Given the description of an element on the screen output the (x, y) to click on. 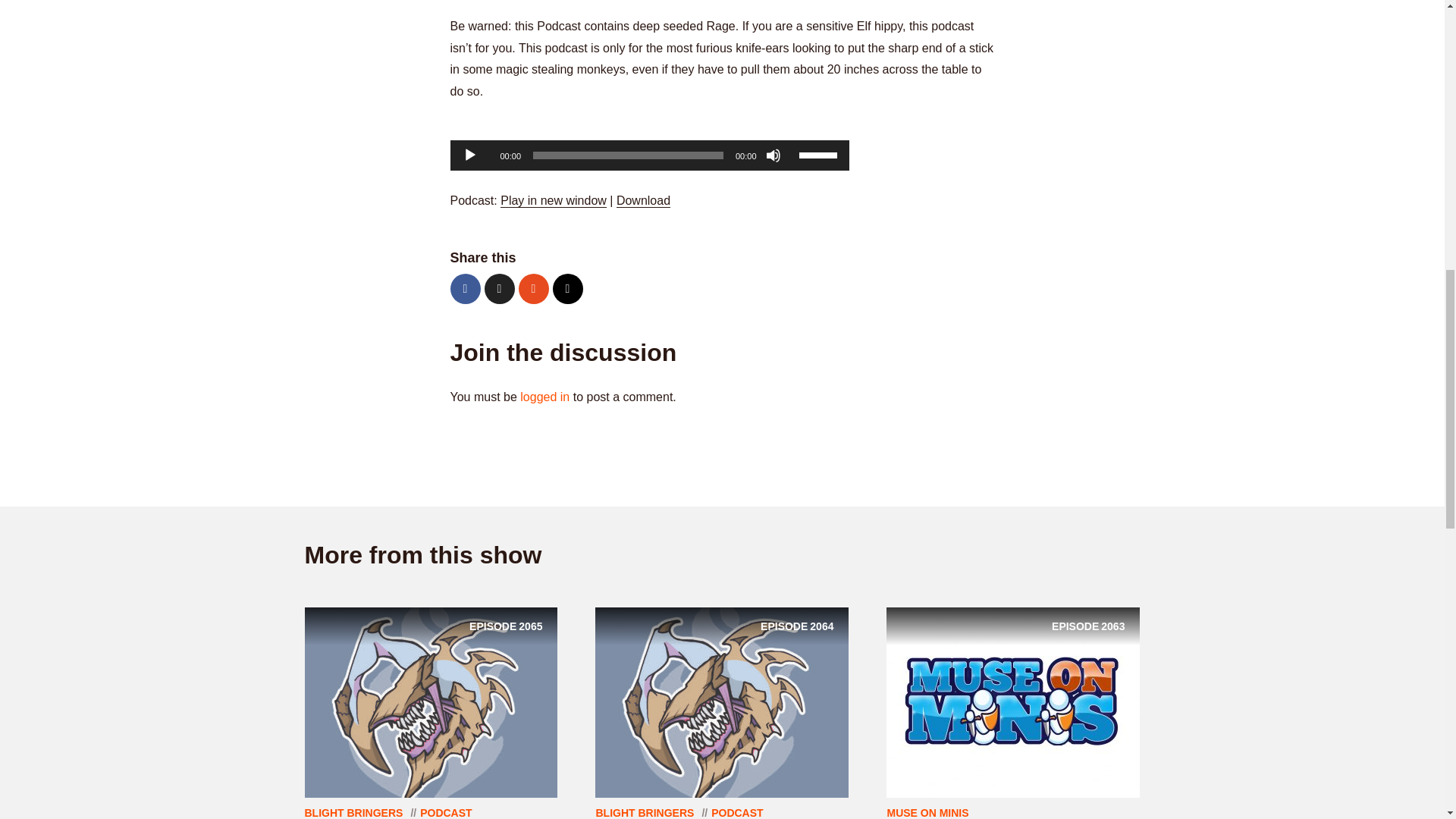
Play (470, 155)
logged in (544, 396)
Mute (772, 155)
Play in new window (553, 201)
Download (642, 201)
Play in new window (553, 201)
Download (430, 701)
BLIGHT BRINGERS (642, 201)
